Given the description of an element on the screen output the (x, y) to click on. 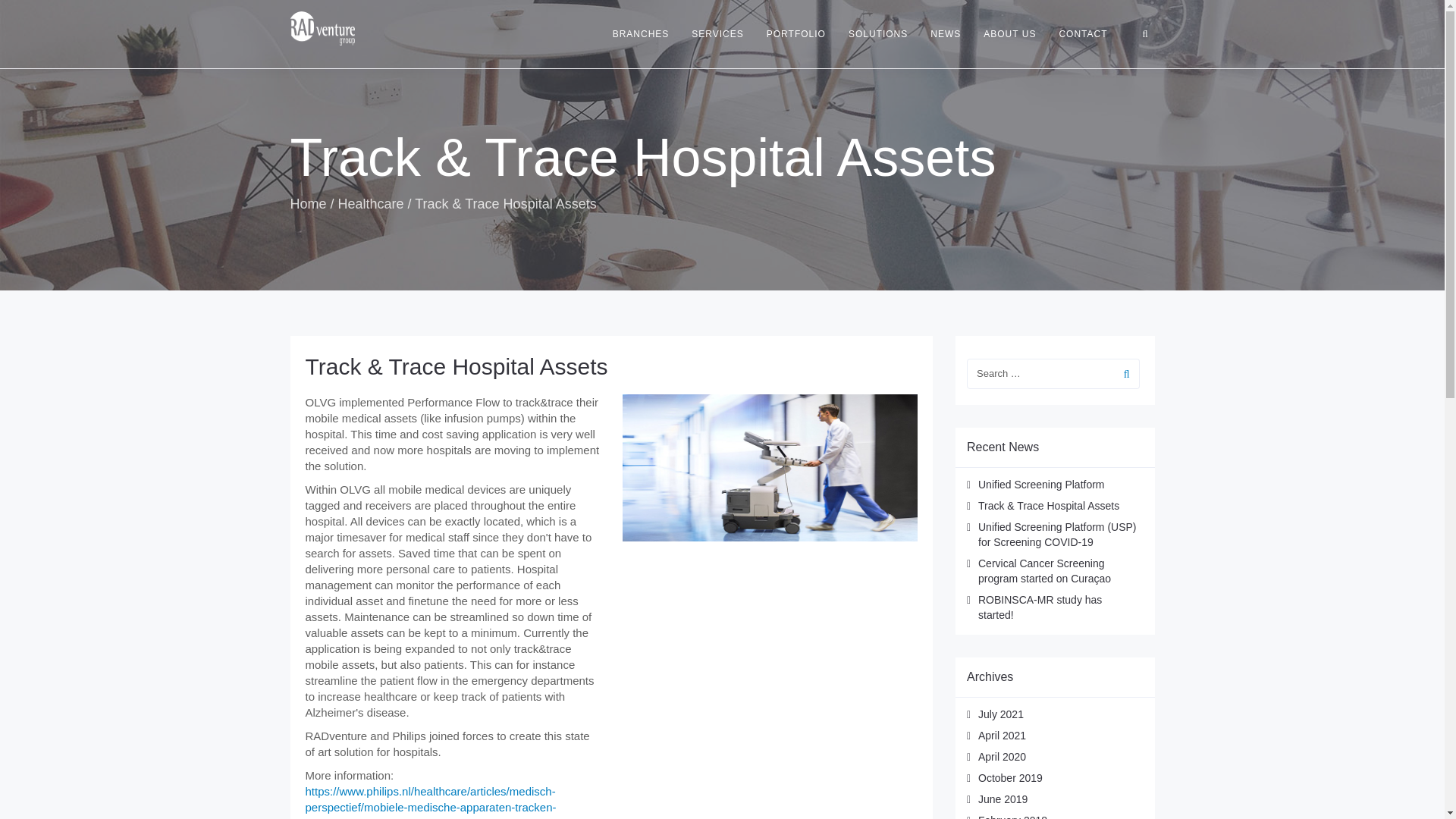
BRANCHES (641, 33)
SOLUTIONS (877, 33)
April 2021 (1002, 735)
Healthcare (370, 203)
July 2021 (1000, 714)
PORTFOLIO (796, 33)
April 2020 (1002, 756)
Unified Screening Platform (1041, 484)
ABOUT US (1009, 33)
ROBINSCA-MR study has started! (1040, 606)
October 2019 (1010, 777)
SERVICES (716, 33)
February 2018 (1012, 816)
June 2019 (1002, 799)
CONTACT (1082, 33)
